Given the description of an element on the screen output the (x, y) to click on. 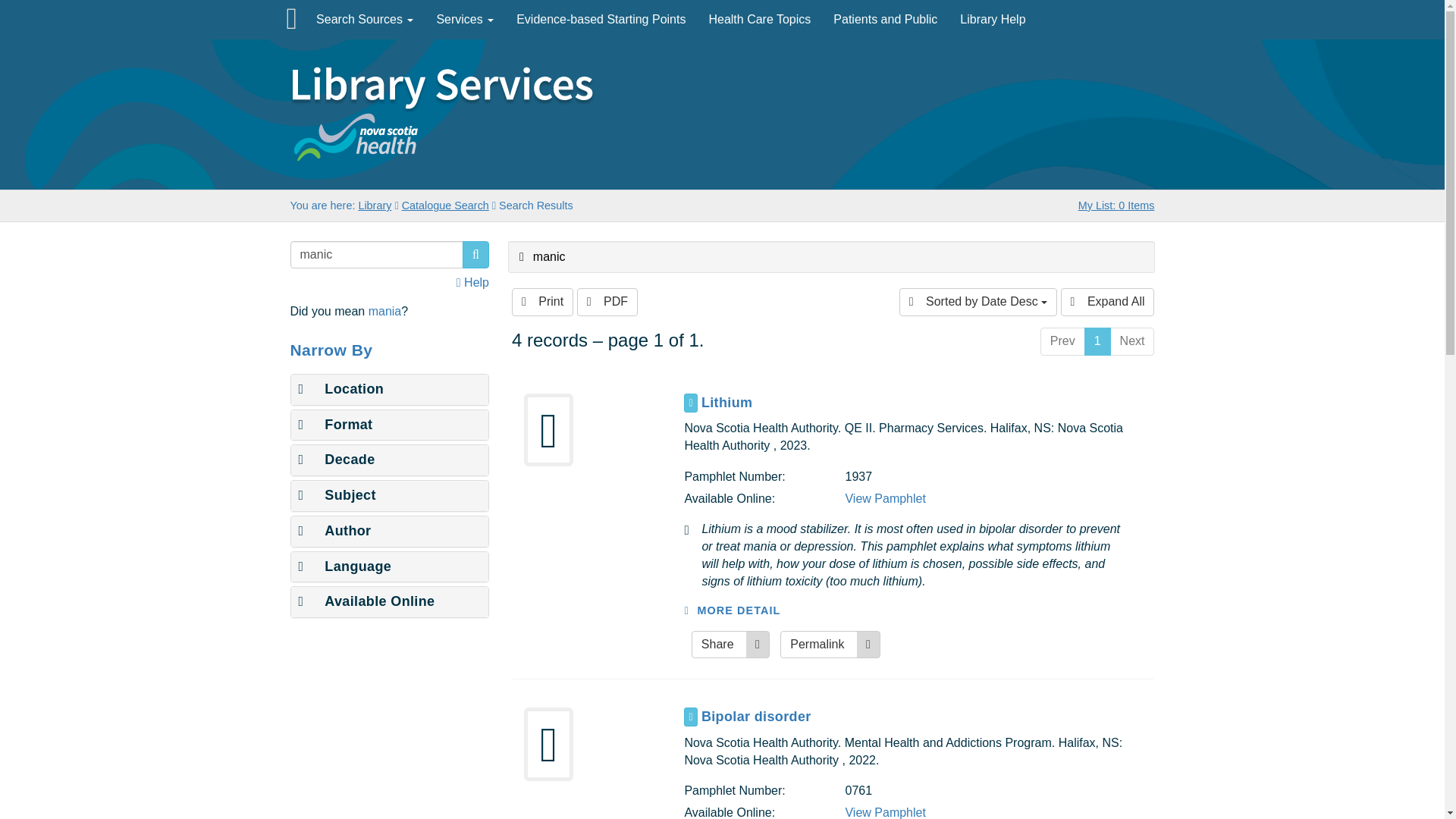
manic (376, 254)
Permalink (829, 644)
Location (341, 388)
Toggle Full Record (690, 716)
Search (476, 254)
Search Sources (364, 19)
Patients and Public (885, 19)
Health Care Topics (759, 19)
Help (473, 282)
Services (465, 19)
Decade (336, 459)
mania (384, 310)
Format (335, 424)
Evidence-based Starting Points (601, 19)
Toggle Full Record (690, 402)
